Given the description of an element on the screen output the (x, y) to click on. 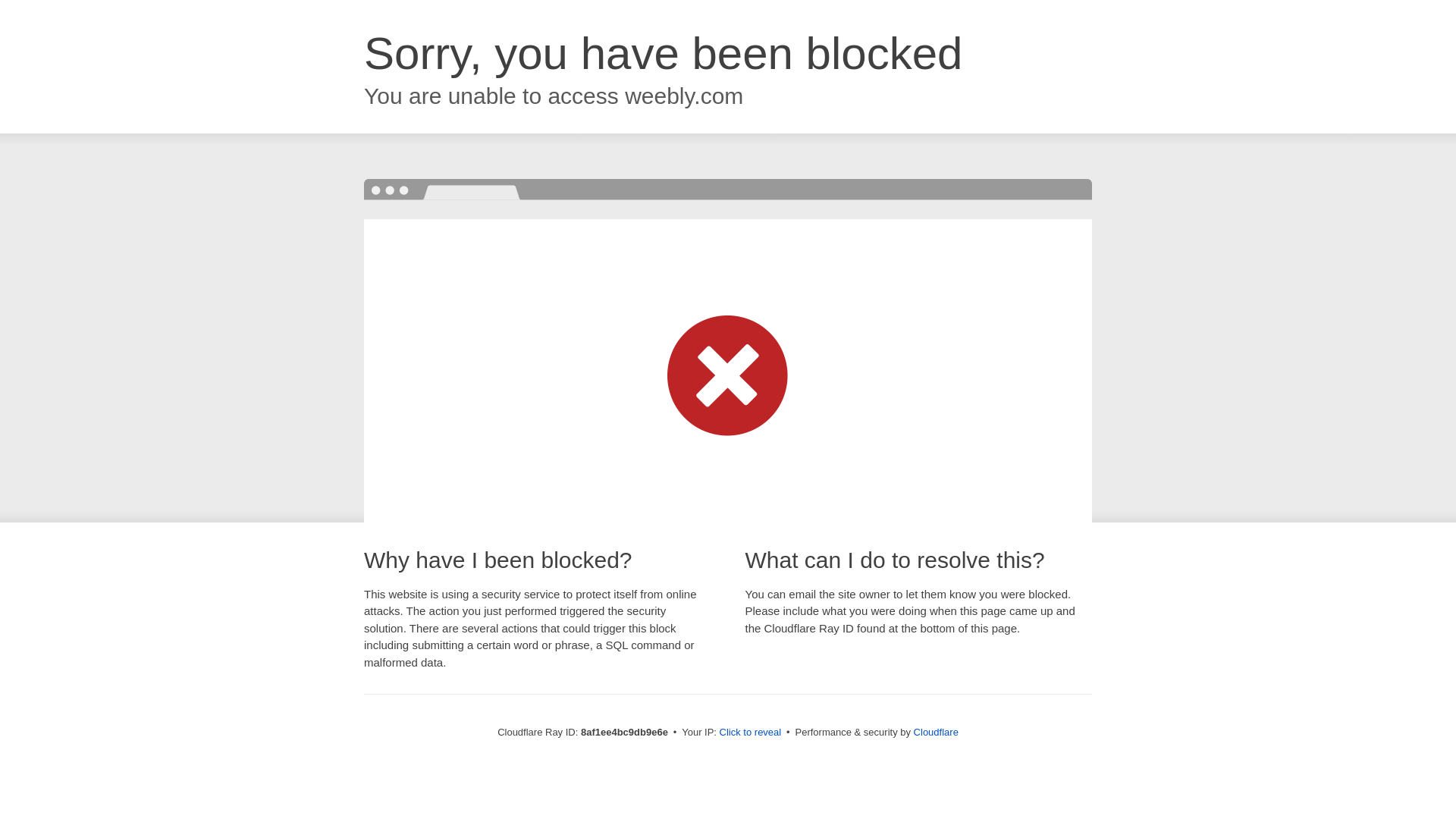
Cloudflare (936, 731)
Click to reveal (750, 732)
